Given the description of an element on the screen output the (x, y) to click on. 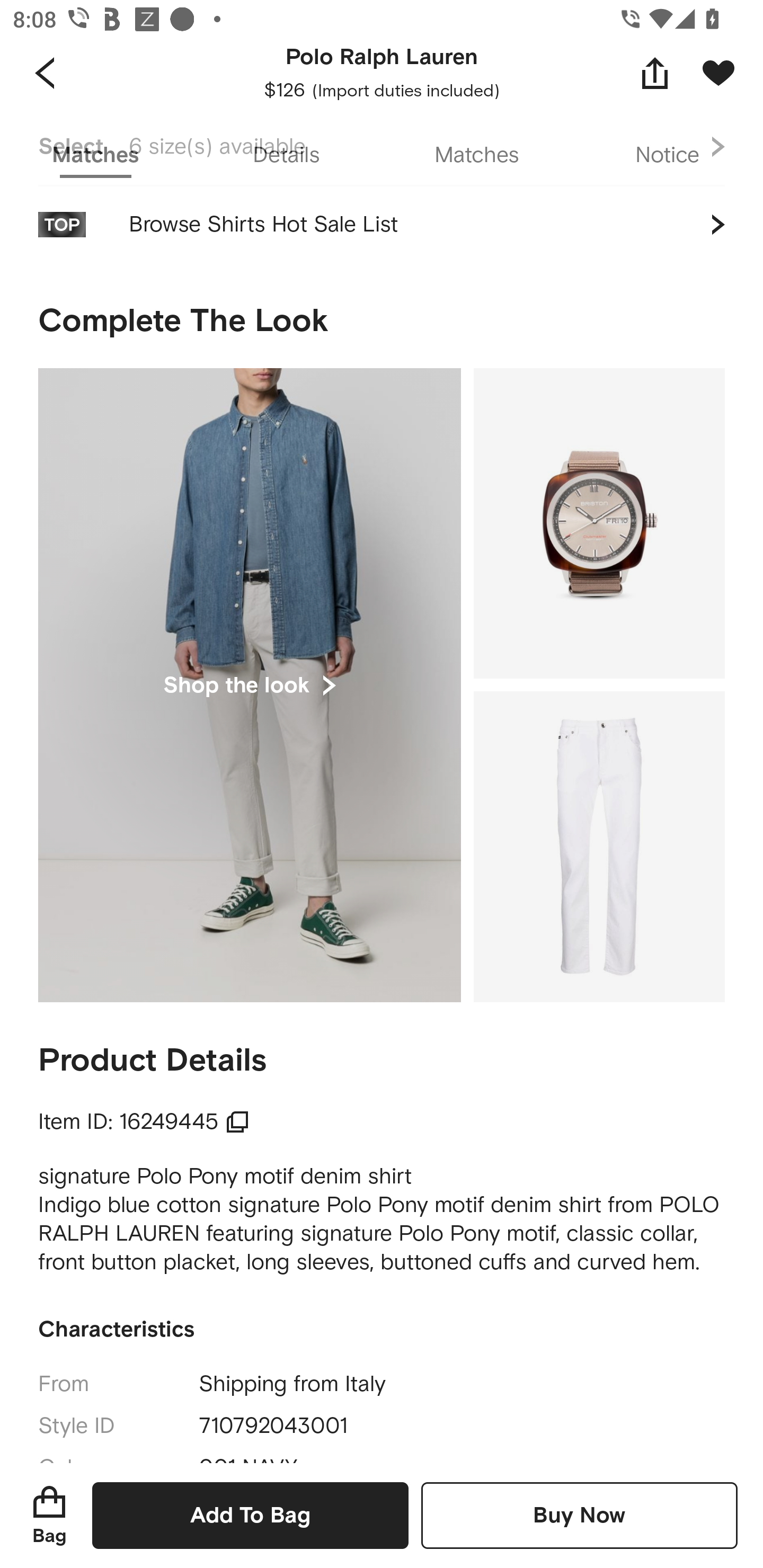
Details (285, 155)
Matches (476, 155)
Notice (667, 155)
Browse Shirts Hot Sale List (381, 233)
Item ID: 16249445 (144, 1121)
Bag (49, 1515)
Add To Bag (250, 1515)
Buy Now (579, 1515)
